Given the description of an element on the screen output the (x, y) to click on. 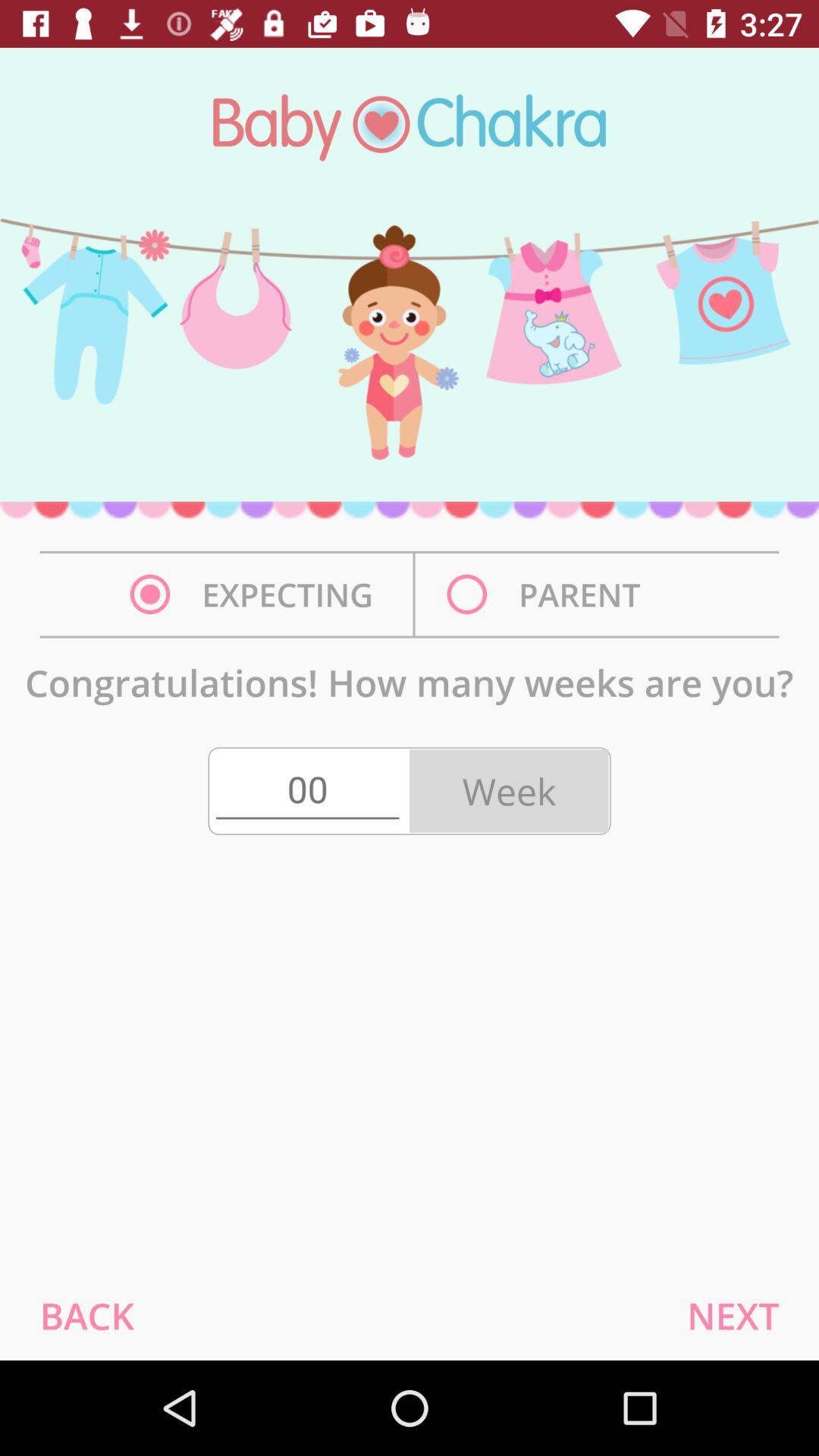
click the icon next to the back icon (733, 1315)
